Given the description of an element on the screen output the (x, y) to click on. 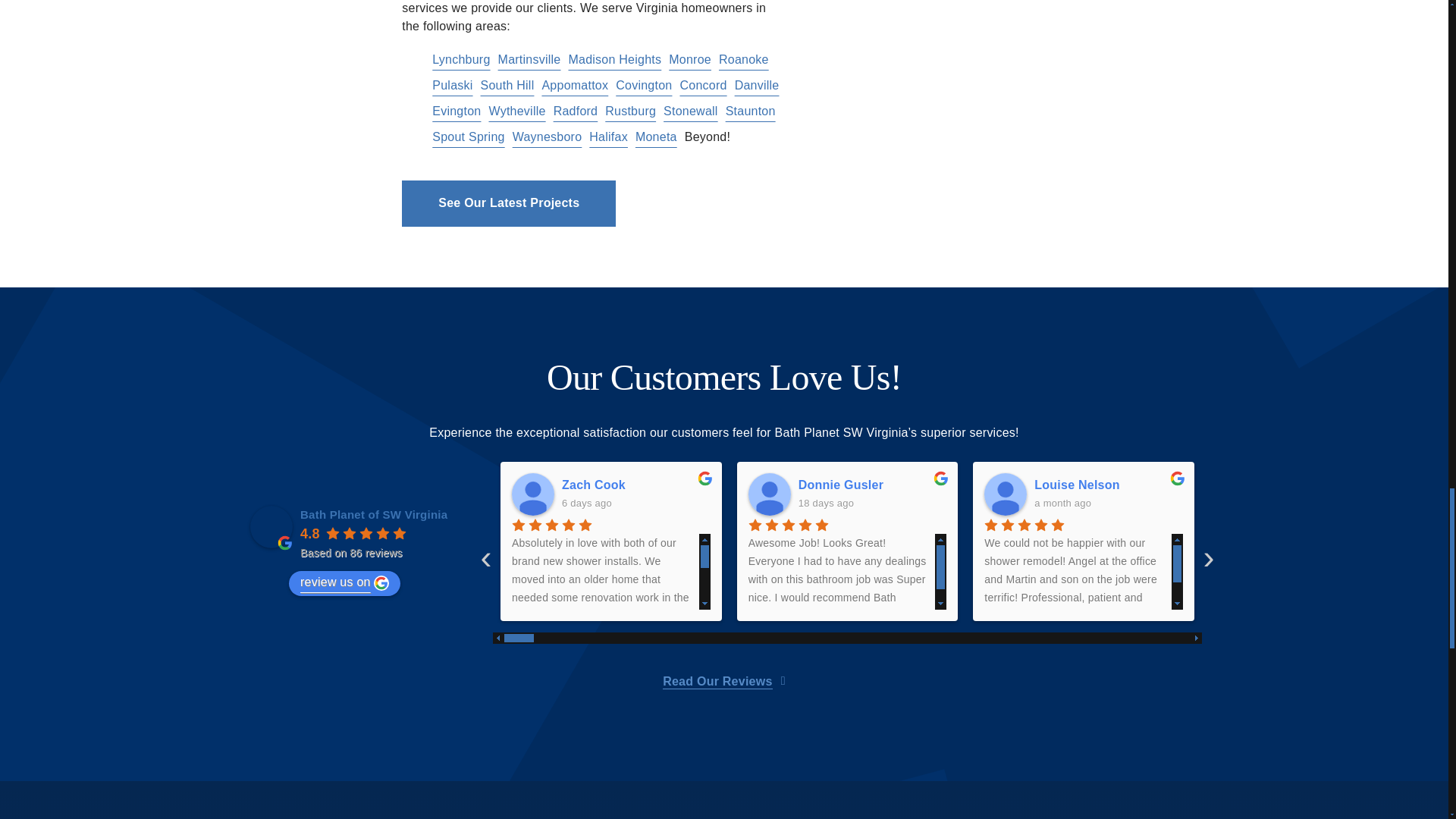
Glen Allen, VA (1013, 79)
Zach Cook (636, 484)
Bath Planet of SW Virginia (271, 526)
Louise Nelson (1005, 494)
Donnie Gusler (769, 494)
Donnie Gusler (872, 484)
Zach Cook (533, 494)
